Given the description of an element on the screen output the (x, y) to click on. 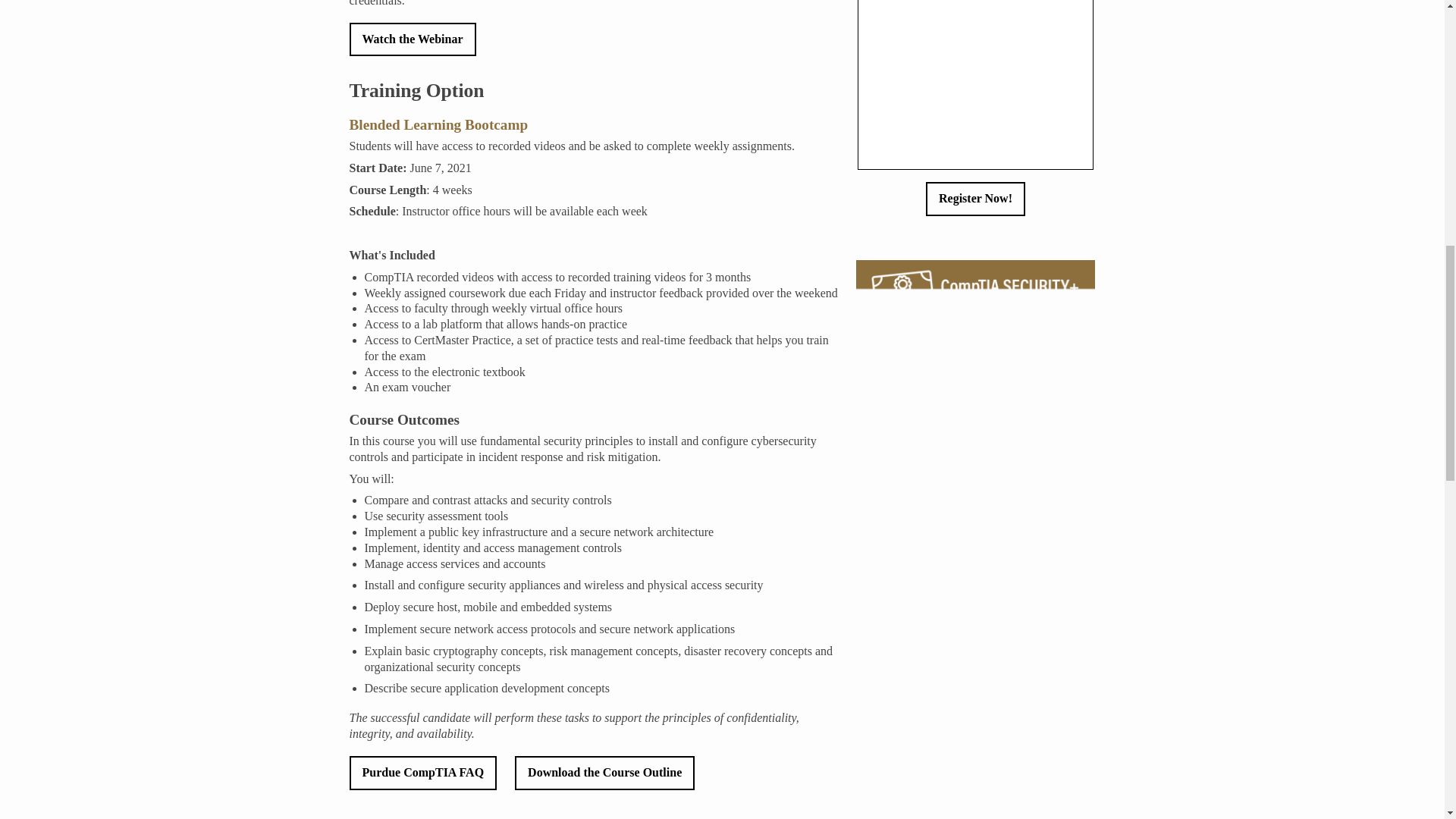
Register Now! (975, 197)
Download the Course Outline (604, 771)
Purdue CompTIA FAQ (430, 771)
Watch the Webinar (412, 38)
